Given the description of an element on the screen output the (x, y) to click on. 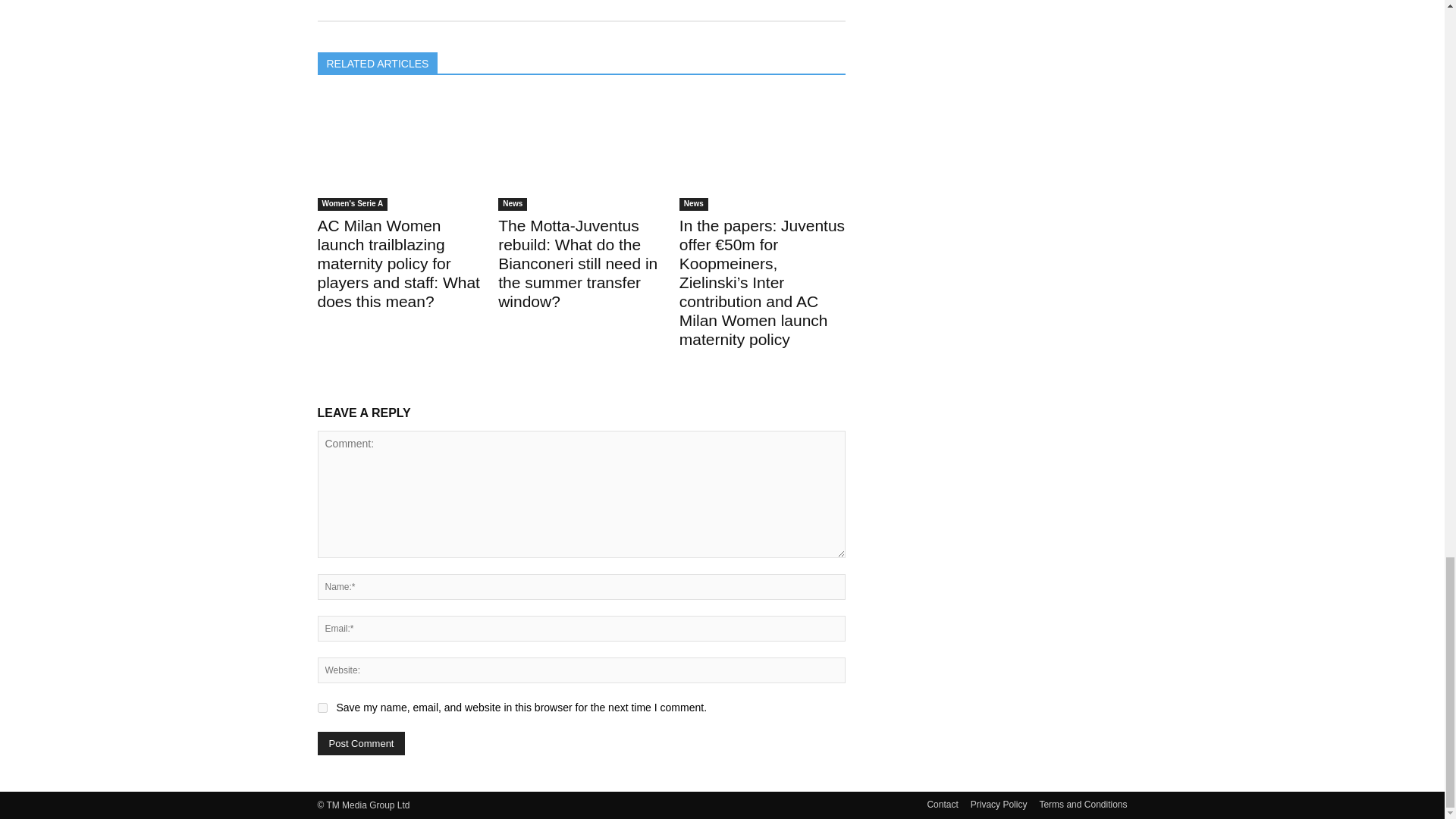
Post Comment (360, 743)
yes (321, 707)
